Given the description of an element on the screen output the (x, y) to click on. 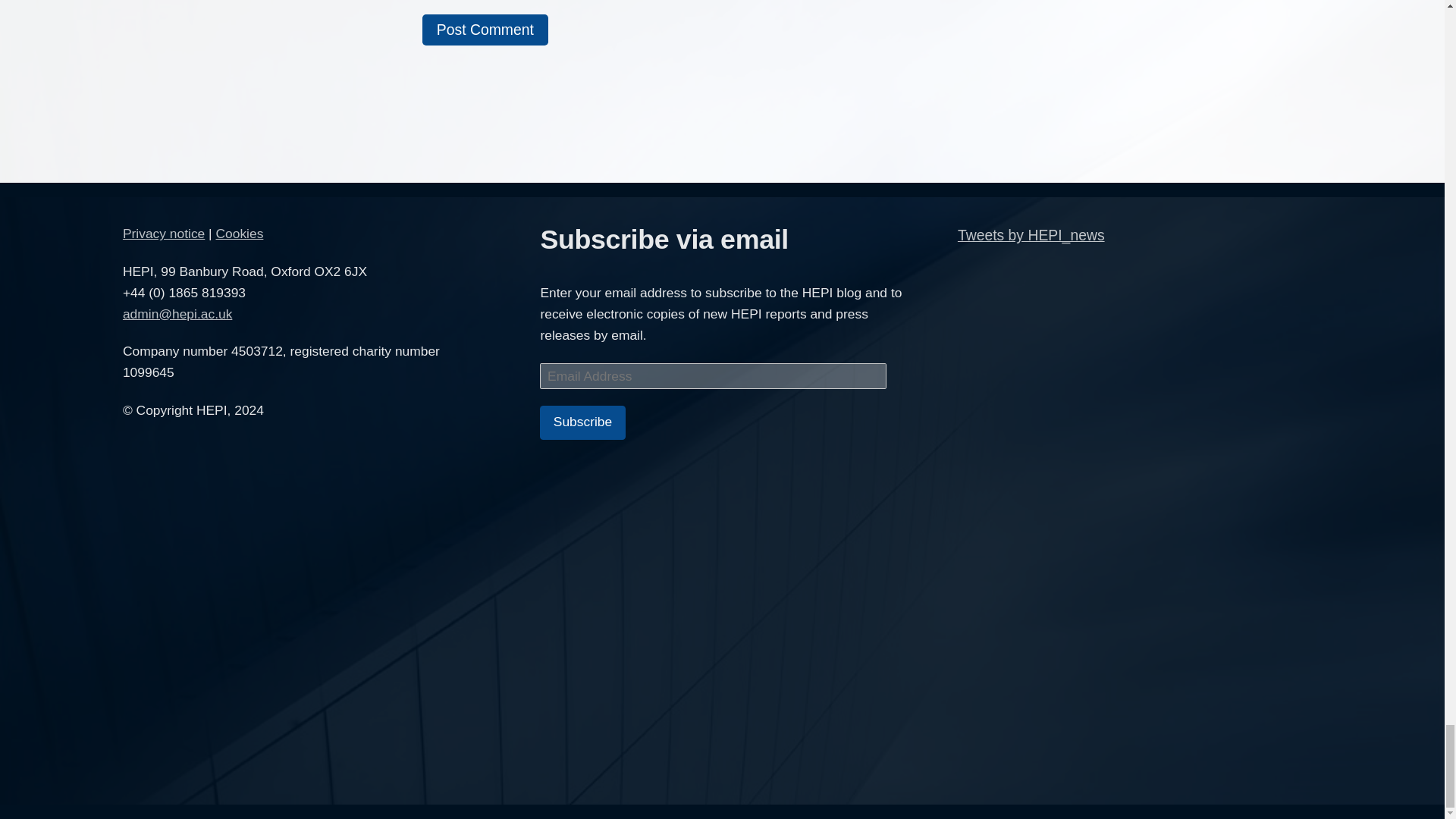
Privacy notice (163, 233)
Post Comment (485, 29)
Subscribe (582, 422)
Email us (176, 313)
Post Comment (485, 29)
Cookies (239, 233)
